Given the description of an element on the screen output the (x, y) to click on. 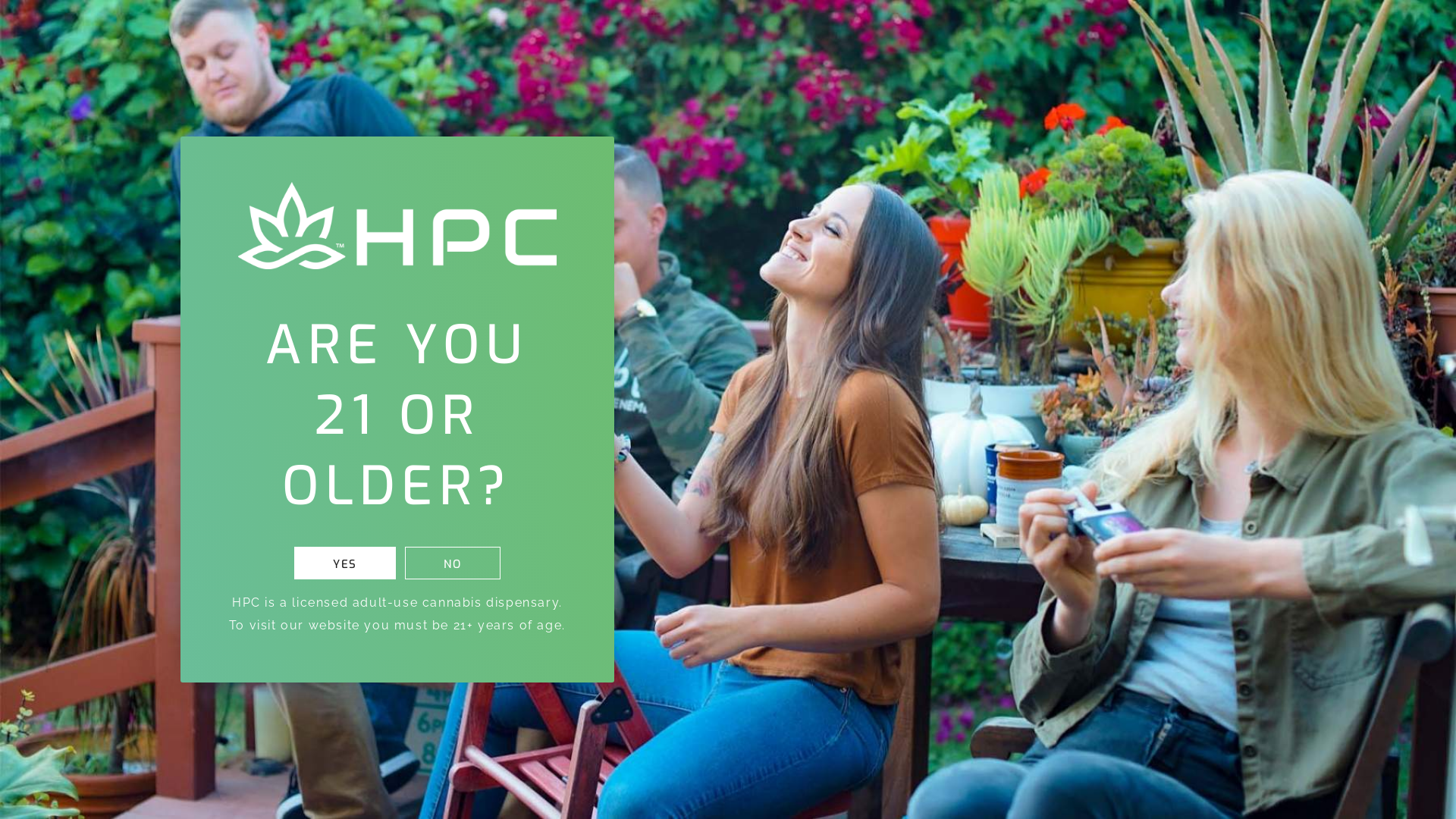
CONTACT Element type: text (660, 31)
NO Element type: text (452, 562)
DAILY DEALS Element type: text (575, 31)
LOCATIONS Element type: text (485, 31)
REWARDS Element type: text (276, 31)
YES Element type: text (344, 562)
Open toolbar
Accessibility Tools Element type: text (19, 643)
ABOUT Element type: text (353, 31)
BLOG Element type: text (415, 31)
MENU Element type: text (201, 31)
